Given the description of an element on the screen output the (x, y) to click on. 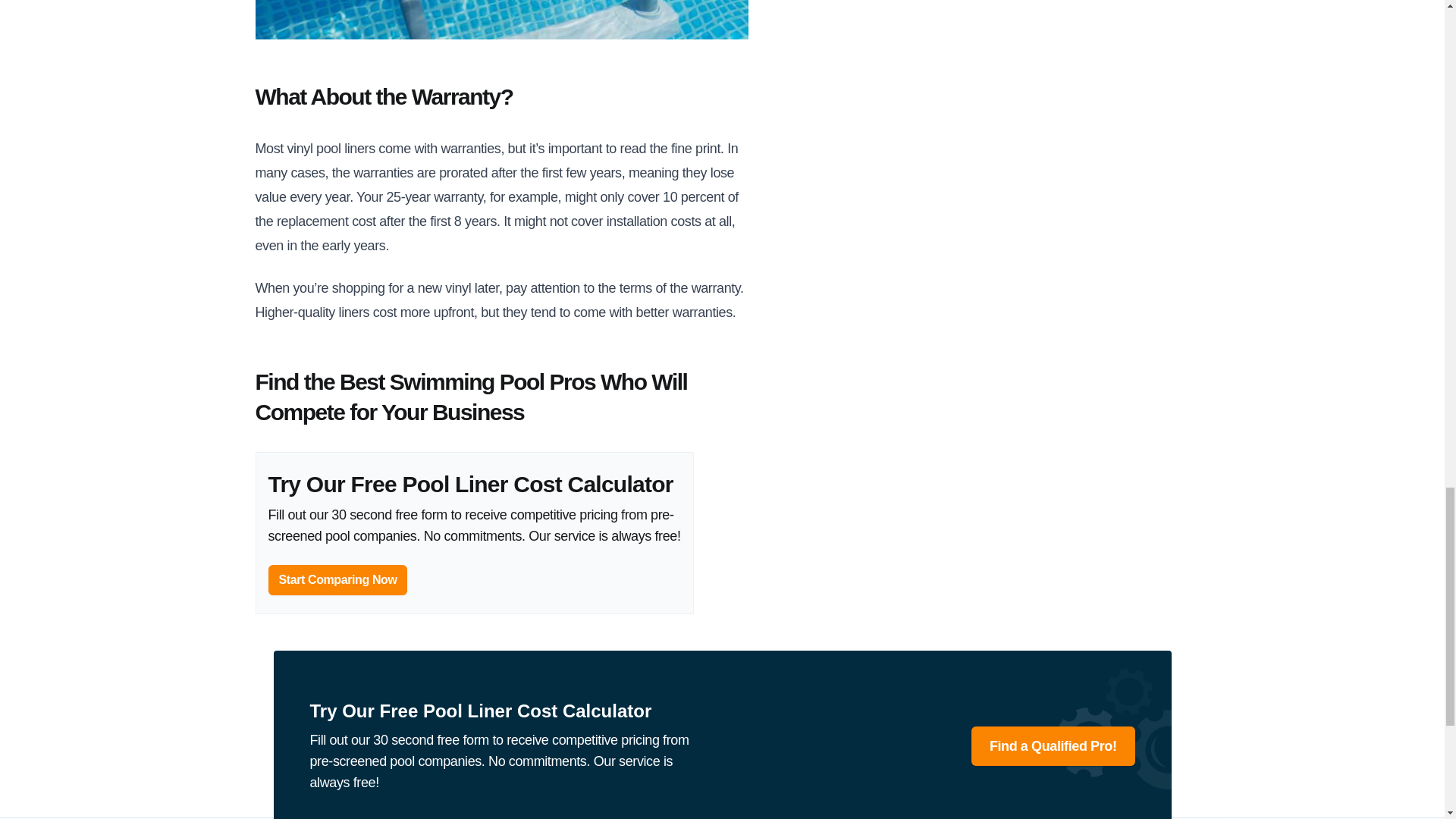
Find a Qualified Pro! (1053, 745)
Bookmark this section (383, 96)
What About the Warranty? (383, 96)
Start Comparing Now (337, 580)
Bookmark this section (470, 397)
